Given the description of an element on the screen output the (x, y) to click on. 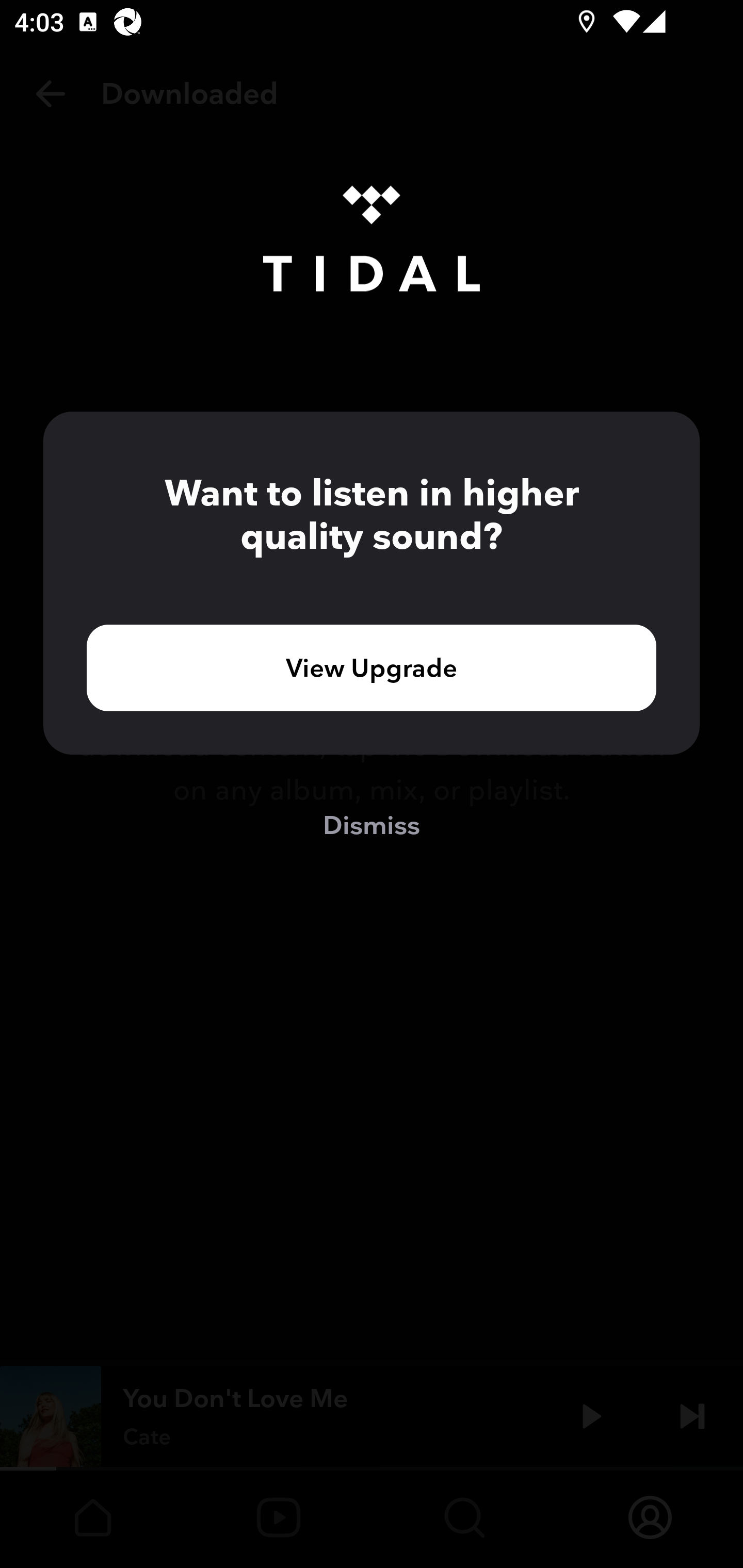
View Upgrade (371, 667)
Dismiss (371, 824)
